Given the description of an element on the screen output the (x, y) to click on. 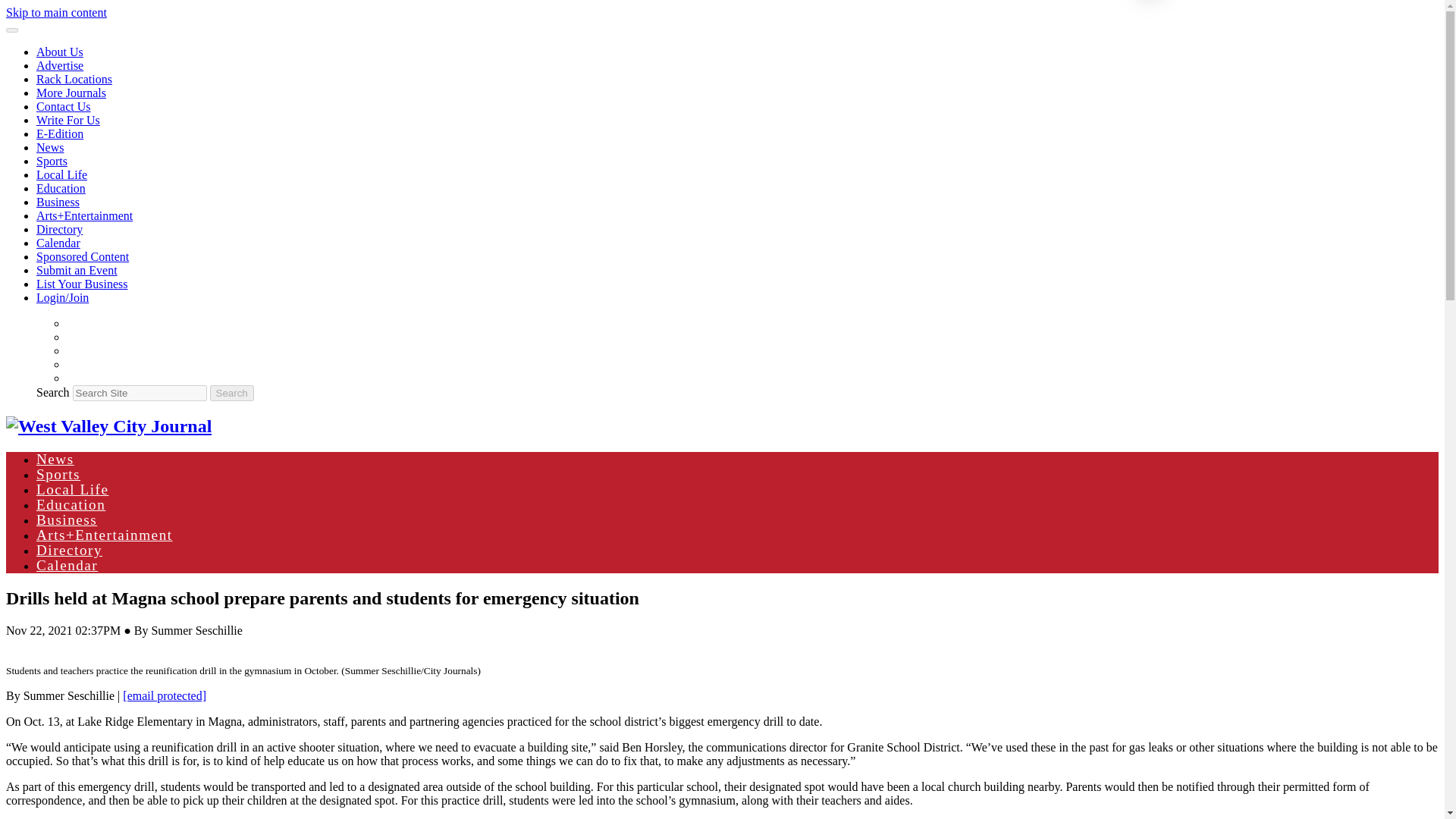
Calendar (58, 242)
List Your Business (82, 283)
Advertise (59, 65)
Rack Locations (74, 78)
Submit an Event (76, 269)
Sports (58, 474)
Directory (59, 228)
Local Life (71, 489)
Education (70, 504)
Calendar (66, 565)
